Given the description of an element on the screen output the (x, y) to click on. 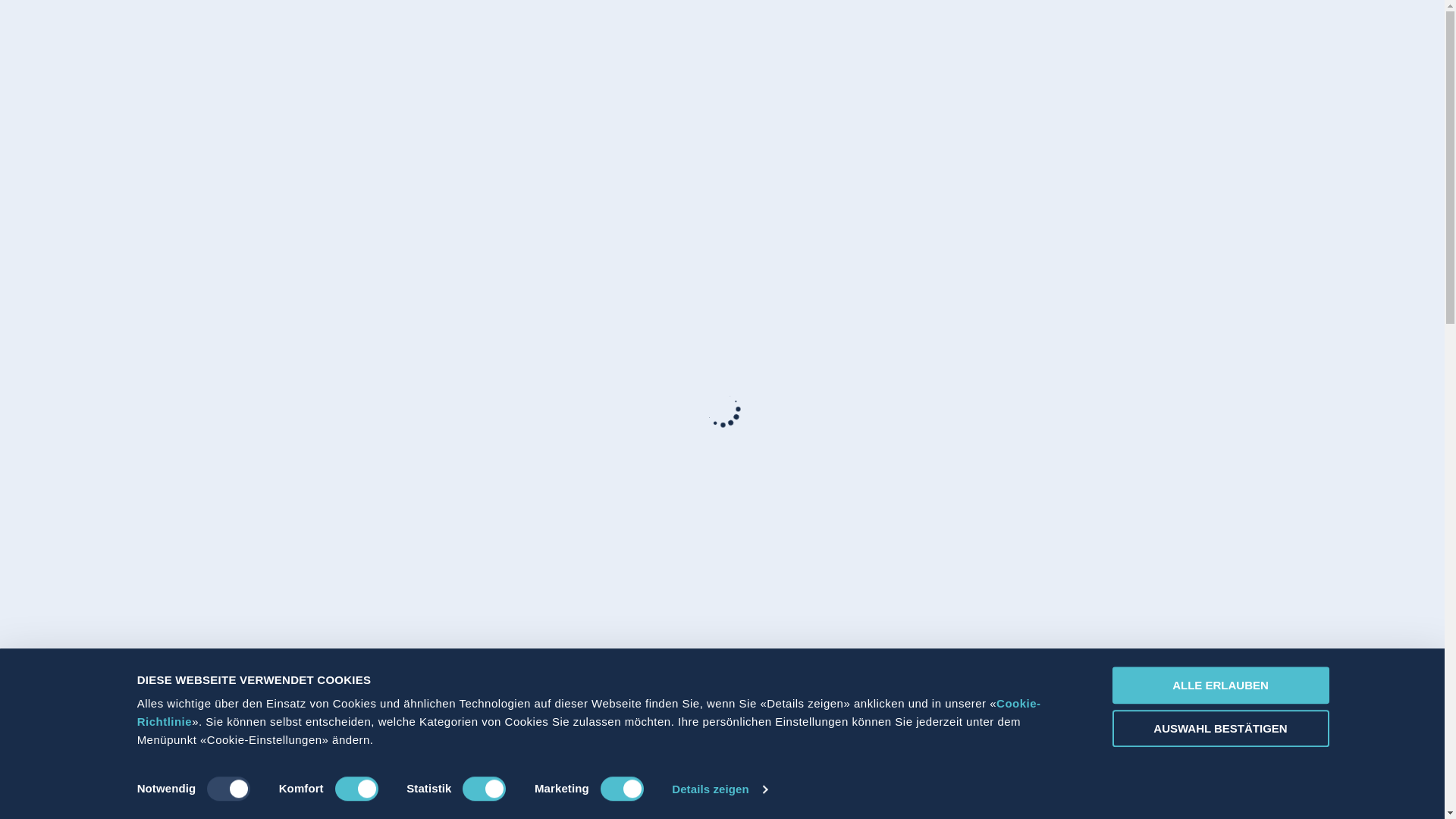
DE Element type: text (1055, 38)
Details zeigen Element type: text (718, 789)
ALLE ERLAUBEN Element type: text (1219, 684)
FR Element type: text (1075, 37)
IT Element type: text (1092, 38)
Cookie-Richtlinie Element type: text (589, 712)
EN Element type: text (1110, 38)
Partager Element type: text (1173, 37)
